Given the description of an element on the screen output the (x, y) to click on. 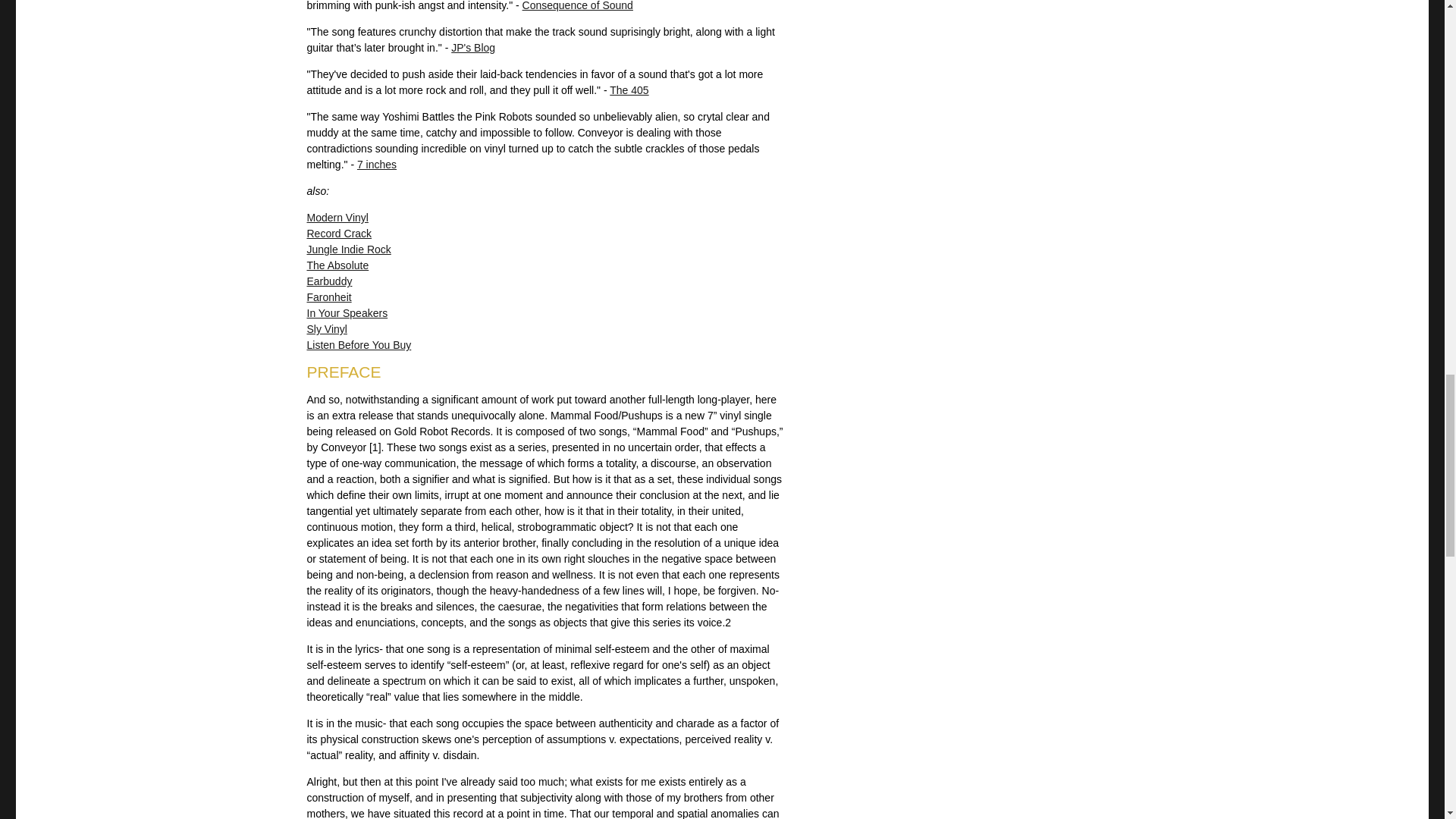
Consequence of Sound (577, 5)
The Absolute (336, 265)
JP's Blog (473, 47)
Faronheit (327, 297)
Jungle Indie Rock (347, 249)
The 405 (628, 90)
Record Crack (338, 233)
7 inches (376, 164)
Earbuddy (328, 281)
Modern Vinyl (336, 217)
